Given the description of an element on the screen output the (x, y) to click on. 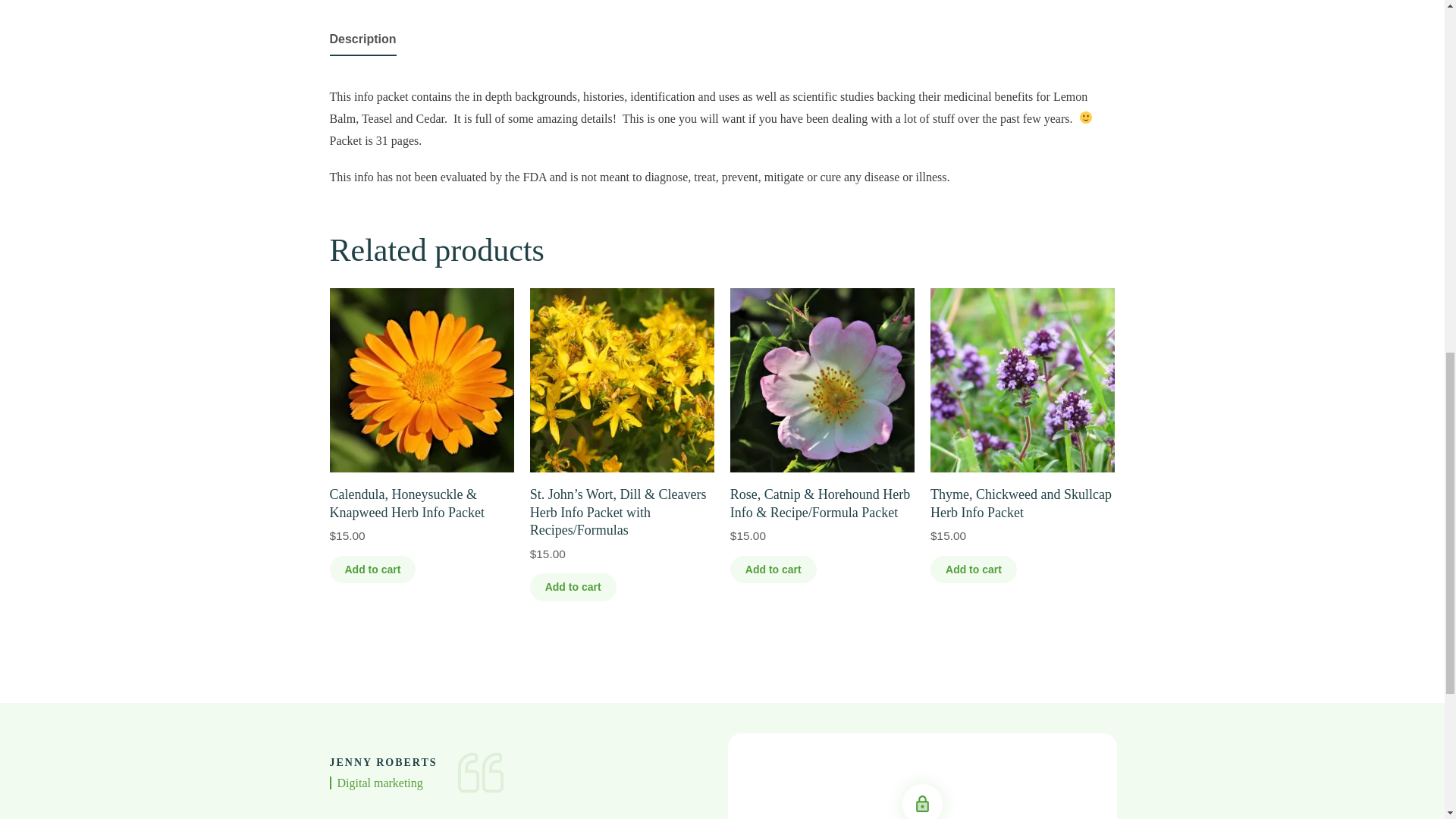
Add to cart (371, 569)
Add to cart (572, 587)
Description (362, 39)
Add to cart (773, 569)
Add to cart (973, 569)
